Given the description of an element on the screen output the (x, y) to click on. 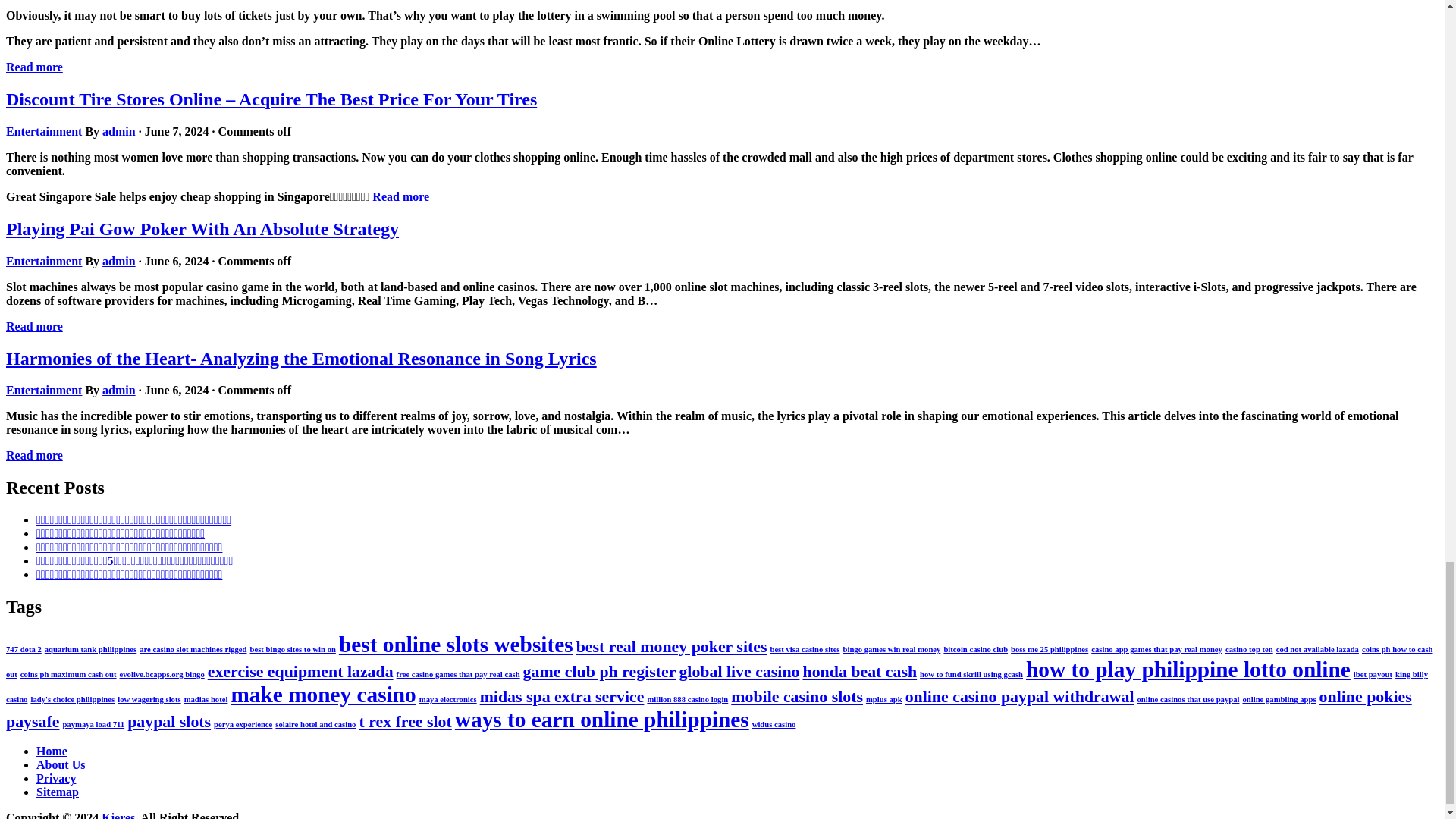
Posts by admin (118, 260)
Posts by admin (118, 390)
Posts by admin (118, 131)
